Given the description of an element on the screen output the (x, y) to click on. 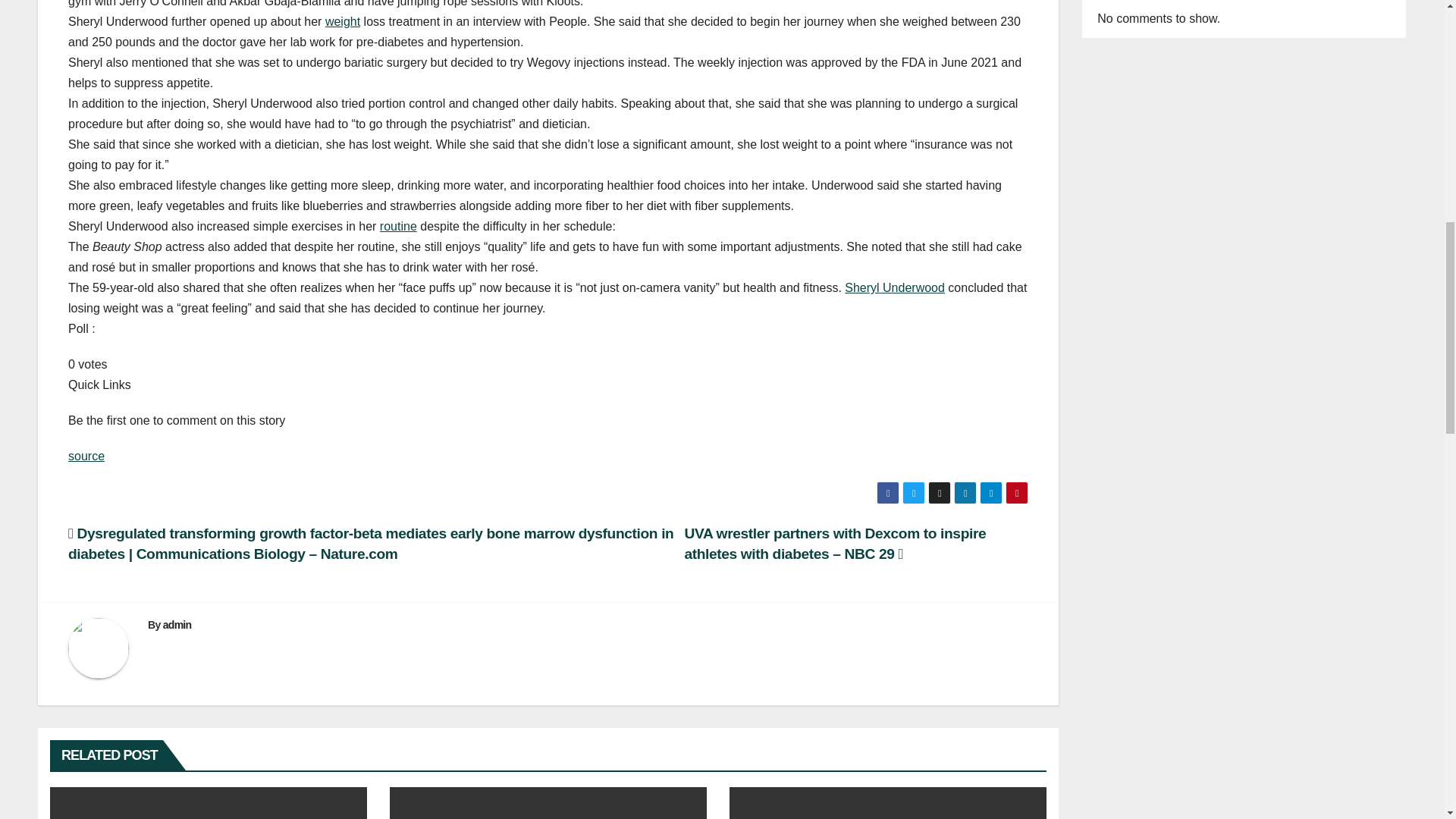
admin (177, 624)
weight (341, 21)
Sheryl Underwood (894, 287)
source (86, 455)
routine (398, 226)
